Given the description of an element on the screen output the (x, y) to click on. 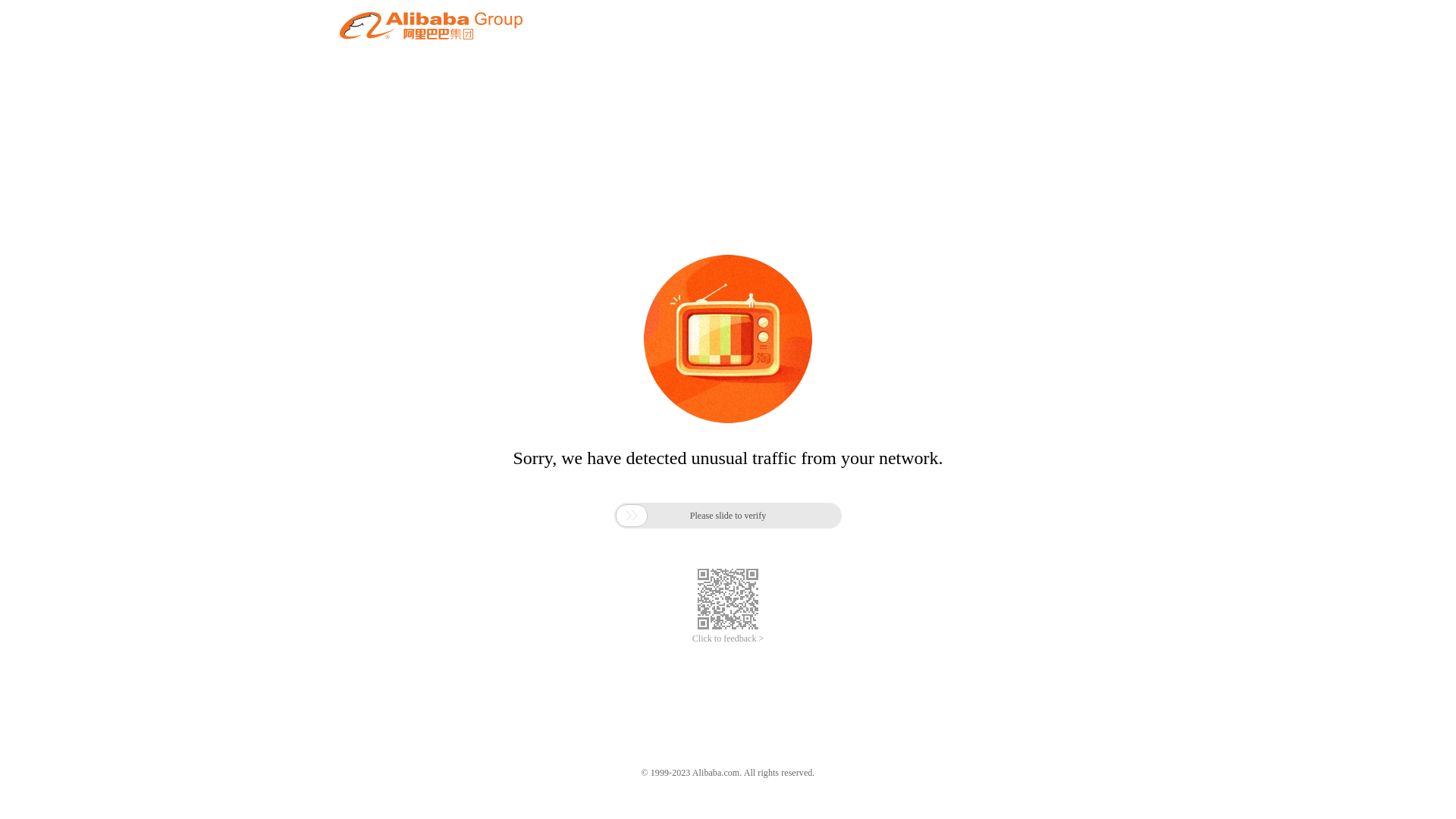
Click to feedback > Element type: text (727, 638)
